Given the description of an element on the screen output the (x, y) to click on. 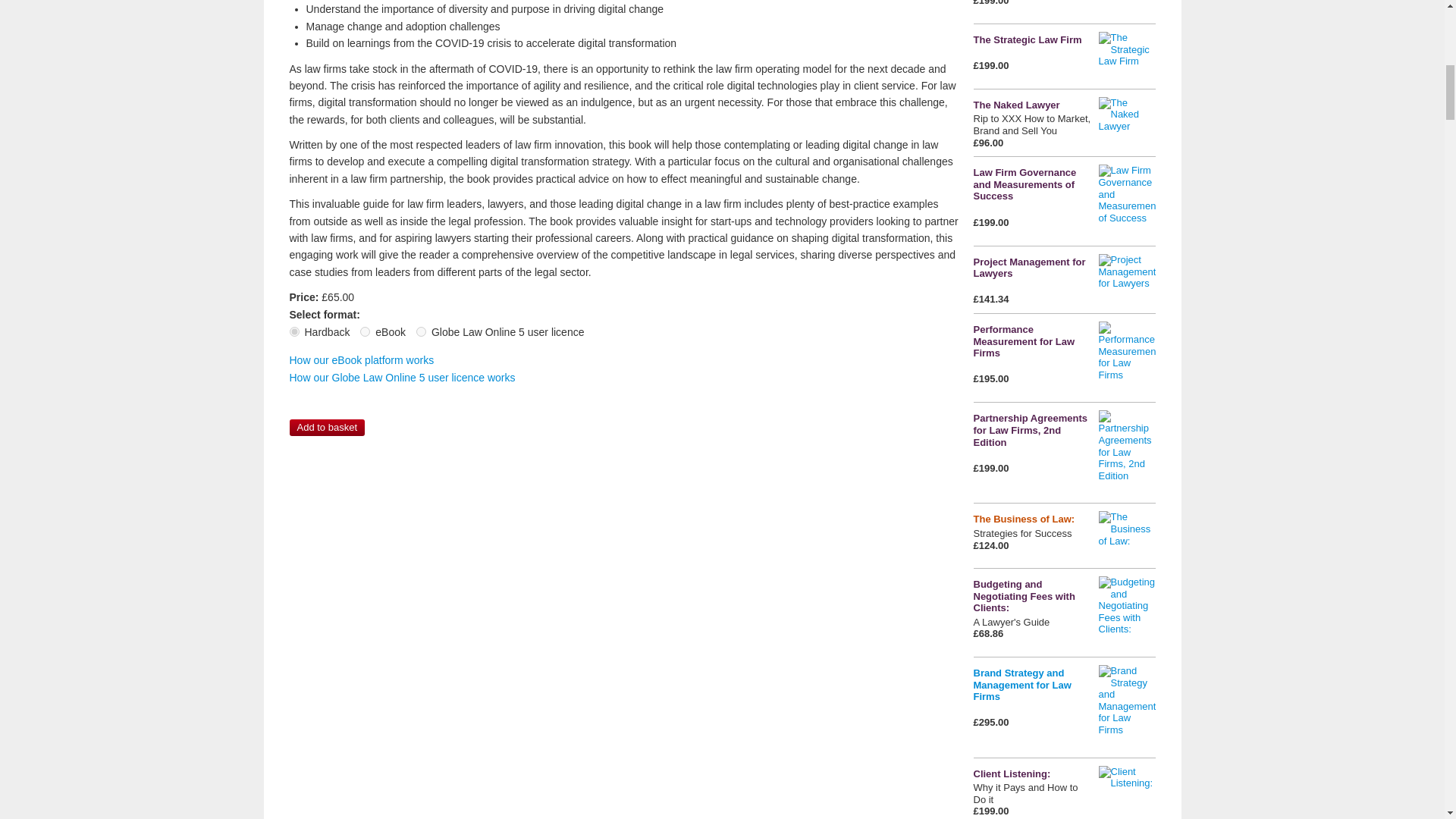
hardback (294, 331)
